Given the description of an element on the screen output the (x, y) to click on. 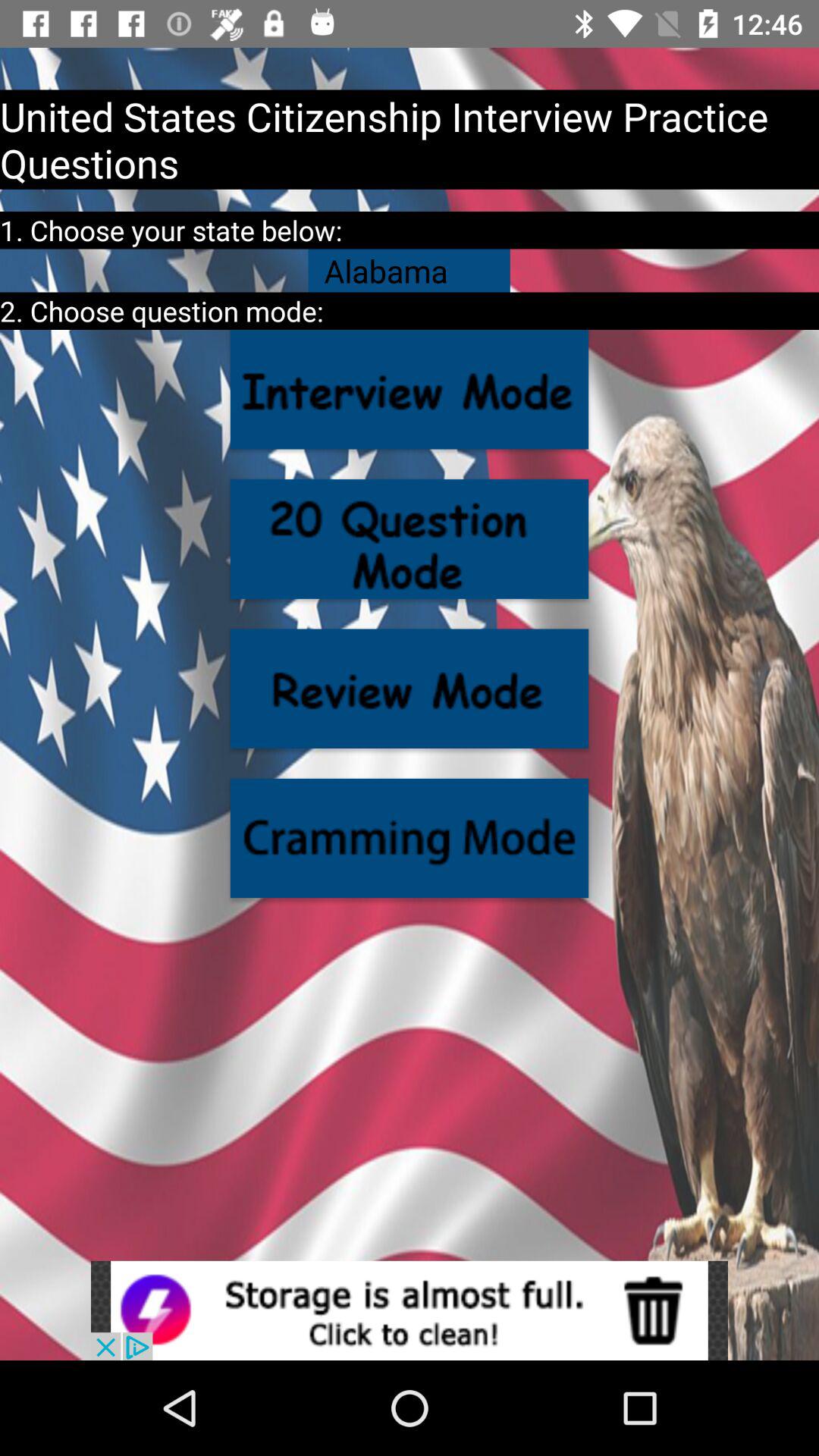
click to question mode (409, 538)
